Given the description of an element on the screen output the (x, y) to click on. 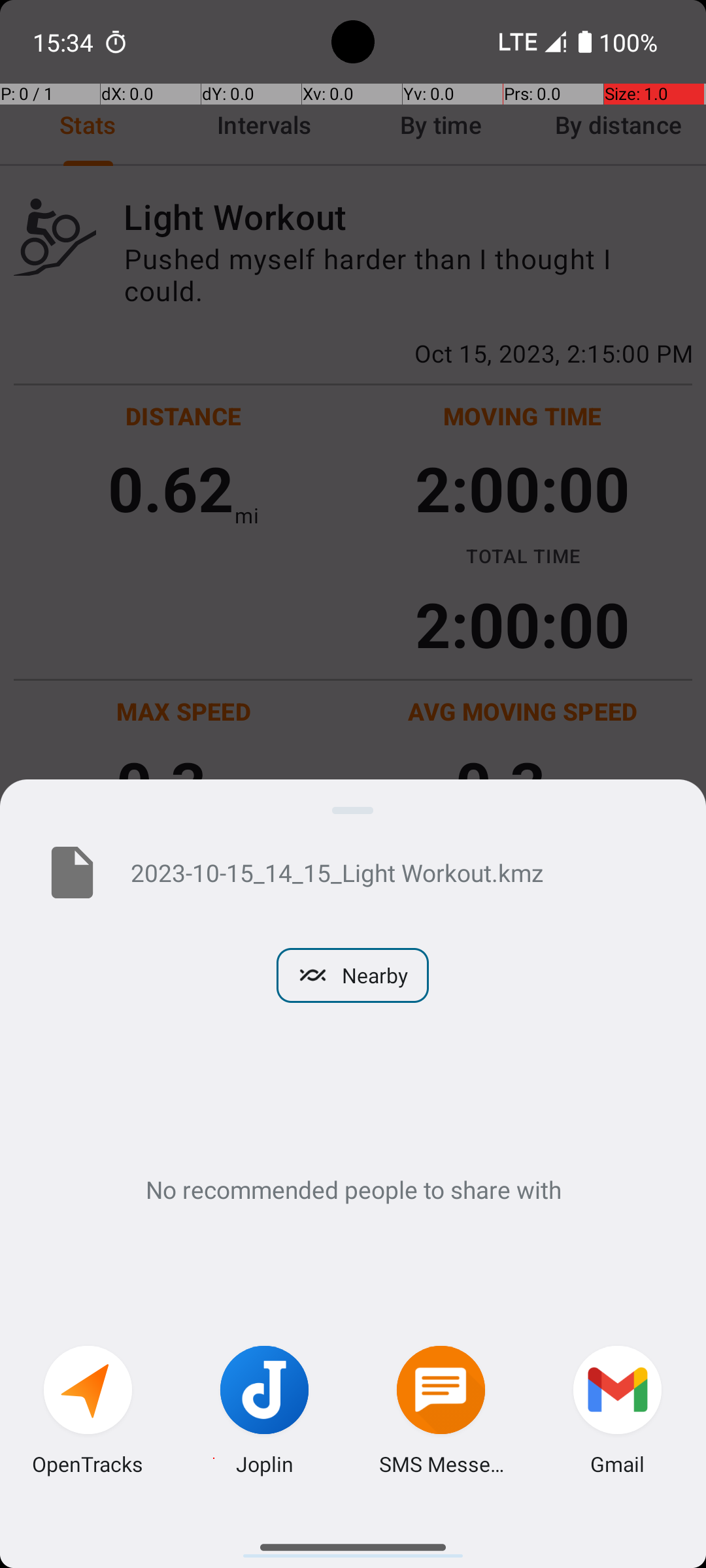
2023-10-15_14_15_Light Workout.kmz Element type: android.widget.TextView (397, 872)
